Given the description of an element on the screen output the (x, y) to click on. 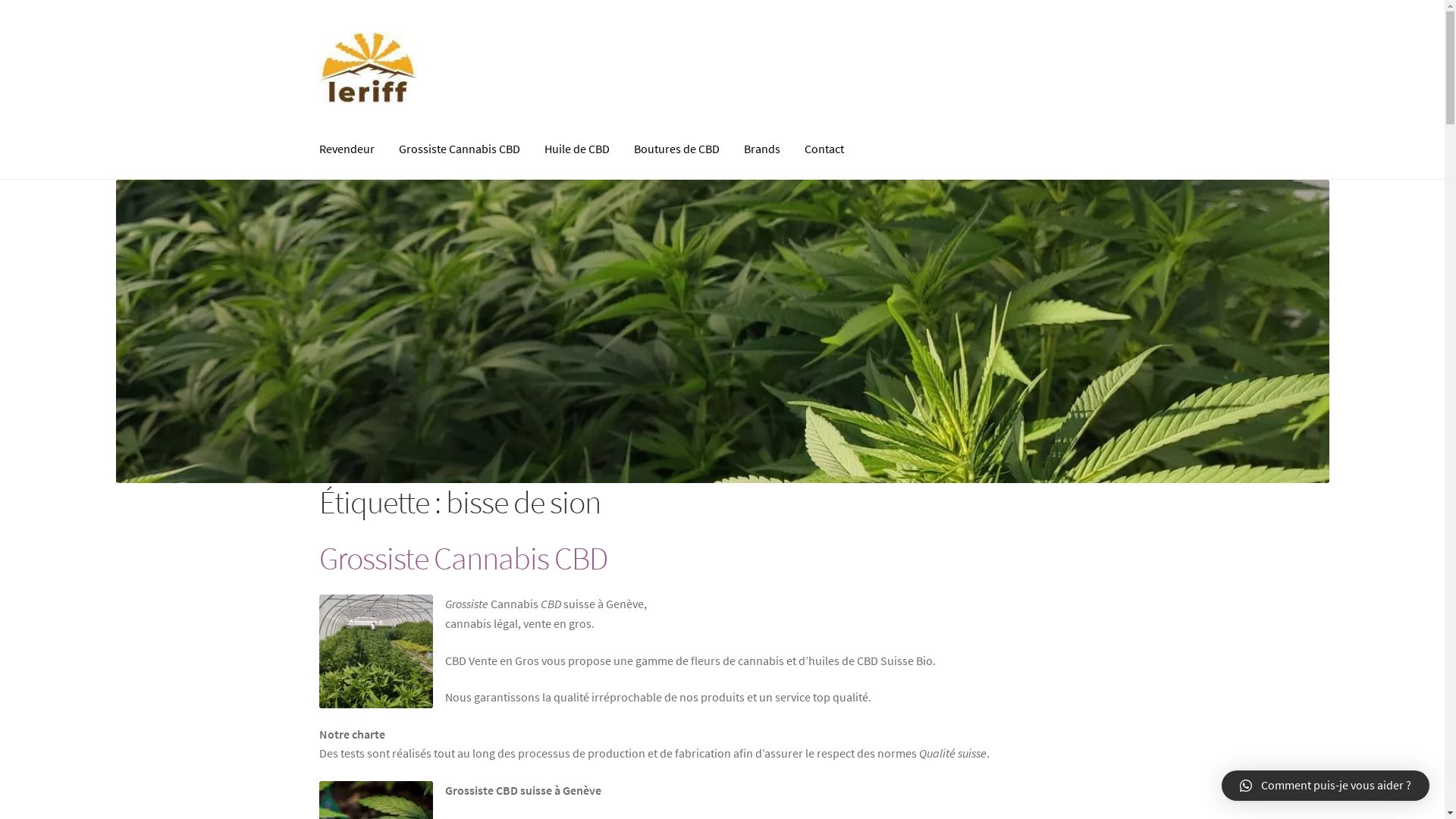
Contact Element type: text (824, 149)
Comment puis-je vous aider ? Element type: text (1325, 785)
CBD Grossiste Element type: hover (376, 651)
Brands Element type: text (761, 149)
cbd-vente-en-gros-grossiste-cannabis012 Element type: hover (721, 331)
Grossiste Cannabis CBD Element type: text (459, 149)
Boutures de CBD Element type: text (676, 149)
Huile de CBD Element type: text (576, 149)
Revendeur Element type: text (346, 149)
Grossiste Cannabis CBD Element type: text (463, 557)
